Given the description of an element on the screen output the (x, y) to click on. 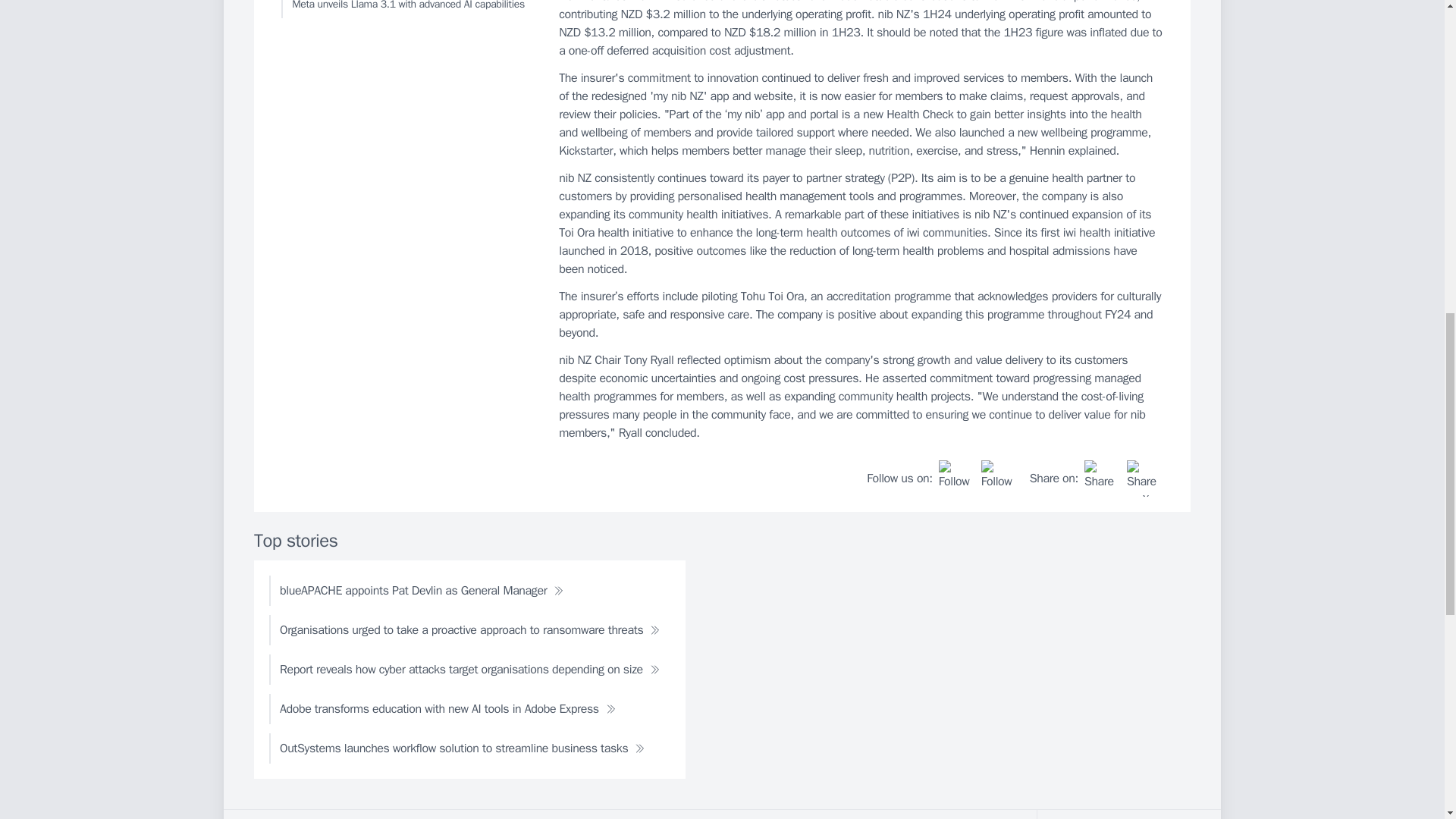
blueAPACHE appoints Pat Devlin as General Manager (421, 590)
Meta unveils Llama 3.1 with advanced AI capabilities (406, 9)
